Given the description of an element on the screen output the (x, y) to click on. 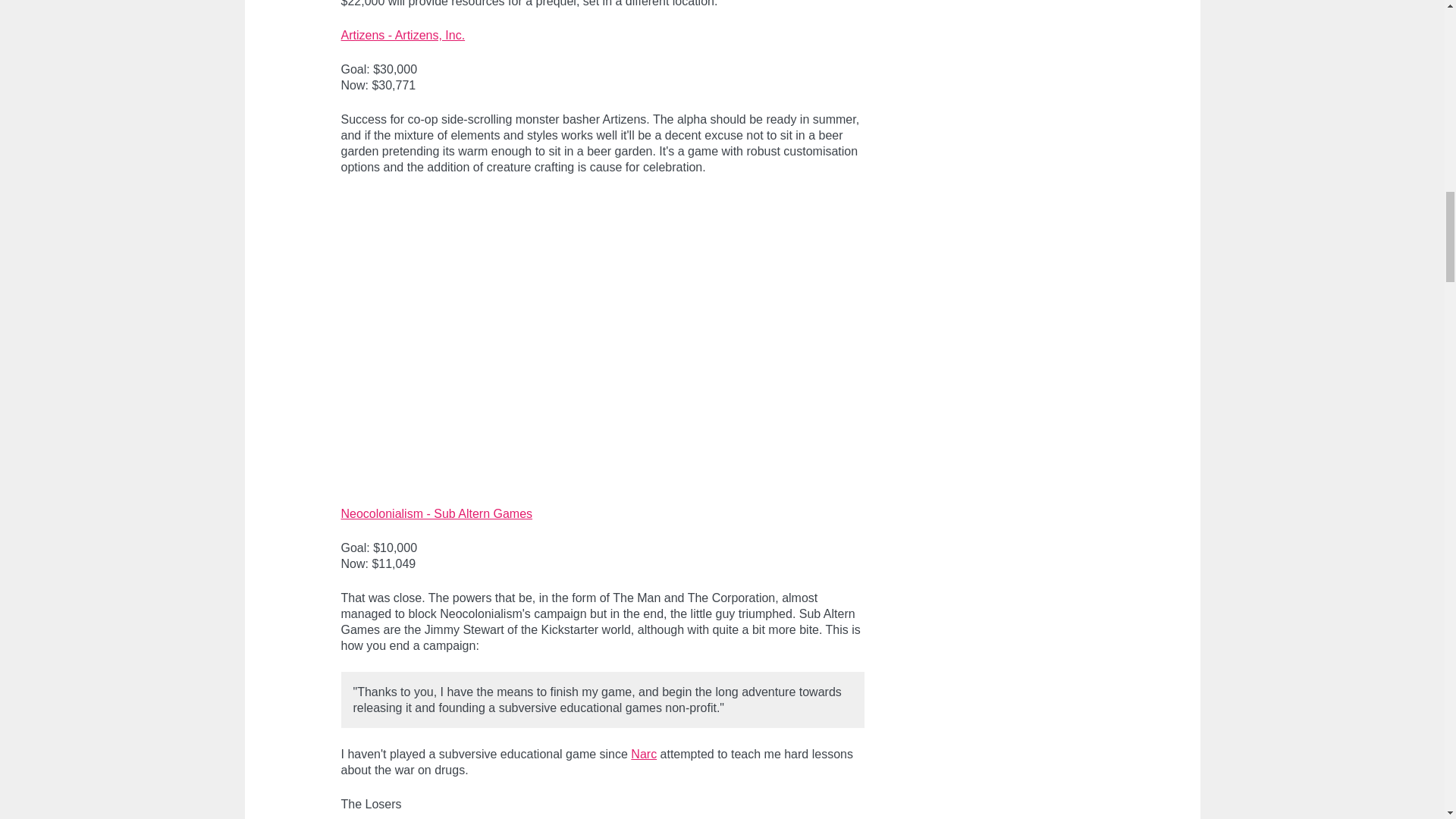
Artizens - Artizens, Inc. (402, 34)
Narc (643, 753)
Neocolonialism - Sub Altern Games (436, 513)
